Given the description of an element on the screen output the (x, y) to click on. 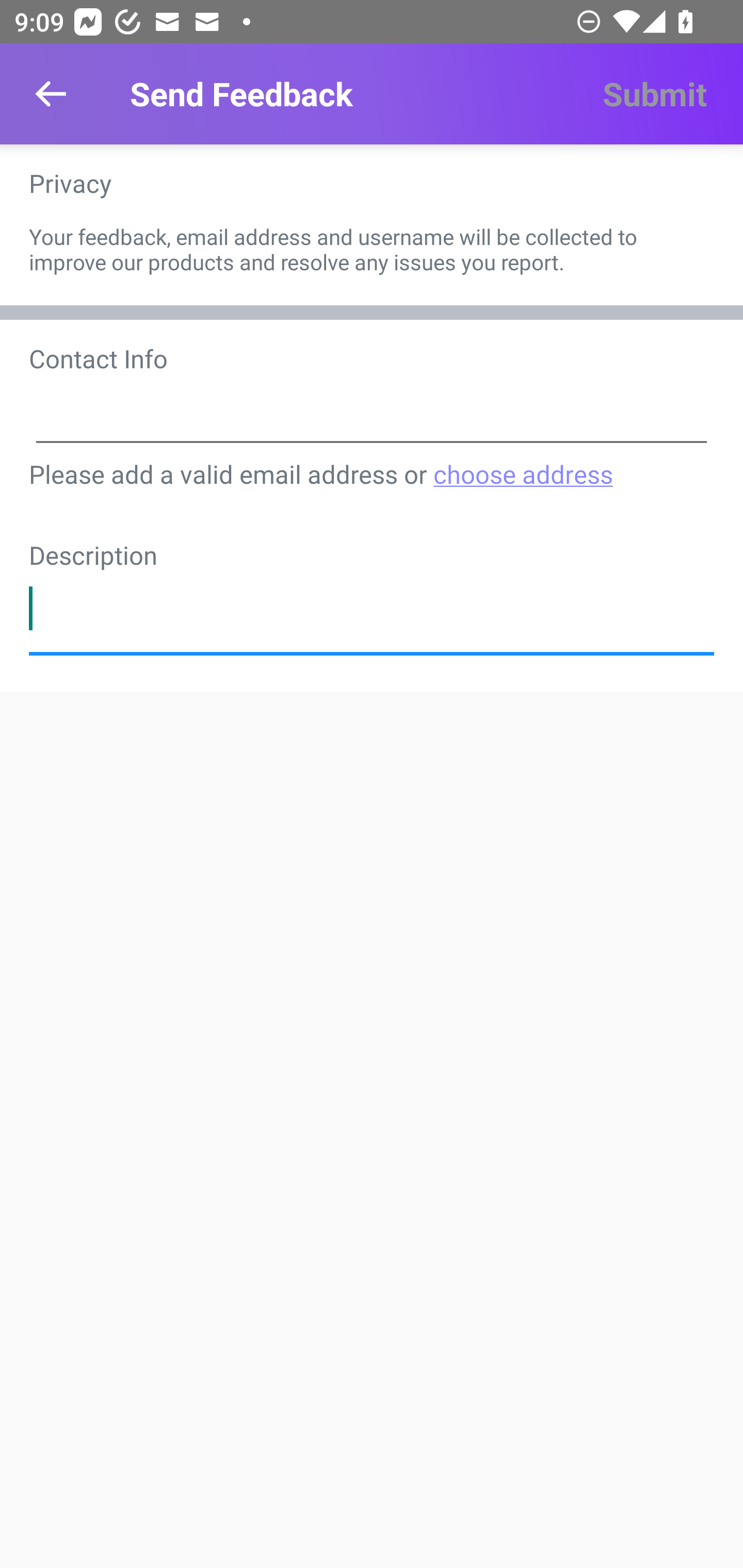
Navigate up (50, 93)
Submit (654, 94)
choose address (522, 473)
feedback (371, 608)
